Given the description of an element on the screen output the (x, y) to click on. 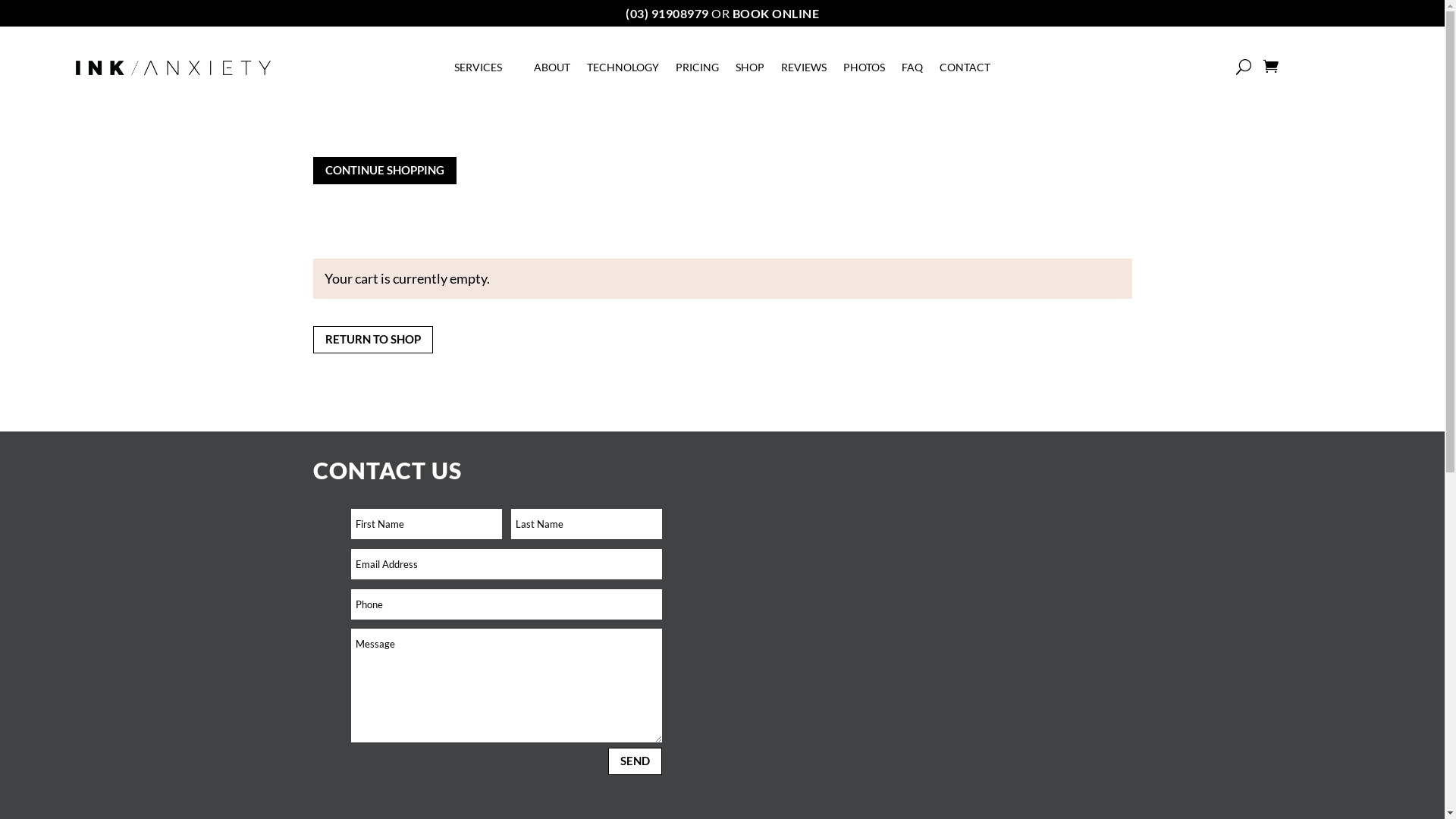
REVIEWS Element type: text (803, 70)
(03) 91908979 Element type: text (667, 13)
RETURN TO SHOP Element type: text (372, 340)
CONTINUE SHOPPING Element type: text (383, 170)
TECHNOLOGY Element type: text (622, 70)
SERVICES Element type: text (485, 70)
BOOK ONLINE Element type: text (775, 13)
ABOUT Element type: text (551, 70)
SHOP Element type: text (749, 70)
PRICING Element type: text (696, 70)
FAQ Element type: text (911, 70)
PHOTOS Element type: text (863, 70)
CONTACT Element type: text (964, 70)
SEND Element type: text (635, 761)
